Given the description of an element on the screen output the (x, y) to click on. 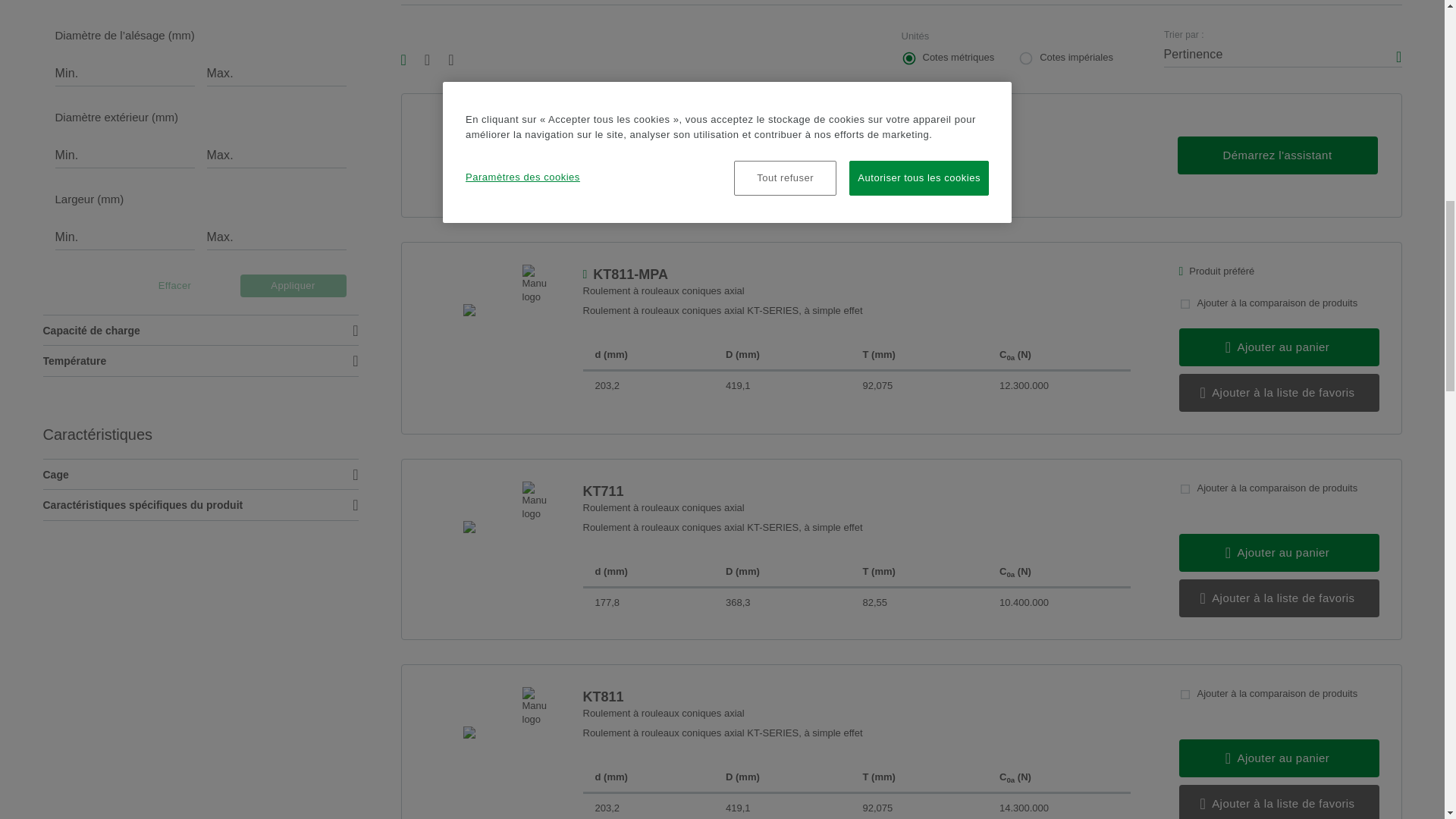
Ajouter au panier (1277, 552)
KT811-MPA (855, 274)
Ajouter au panier (1277, 347)
Effacer (173, 285)
Appliquer (293, 285)
KT711 (855, 491)
